Given the description of an element on the screen output the (x, y) to click on. 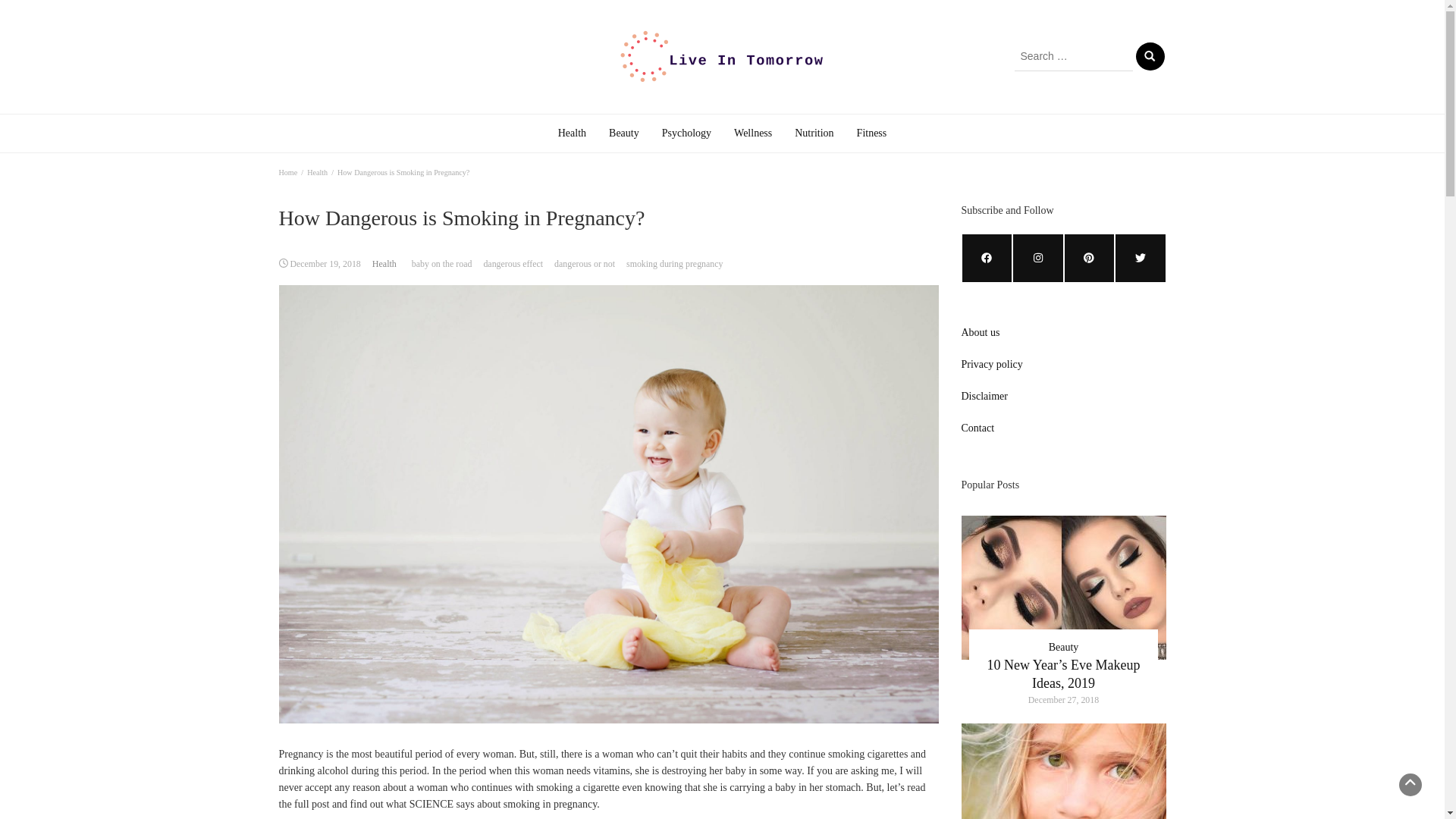
Psychology (686, 133)
Health (317, 172)
December 27, 2018 (1062, 700)
Psychology (686, 133)
Beauty (1063, 646)
Beauty (623, 133)
Search (1149, 56)
Wellness (752, 133)
Beauty (623, 133)
Health (571, 133)
Contact (977, 428)
Nutrition (813, 133)
Home (288, 172)
Search for: (1073, 56)
Health (571, 133)
